Given the description of an element on the screen output the (x, y) to click on. 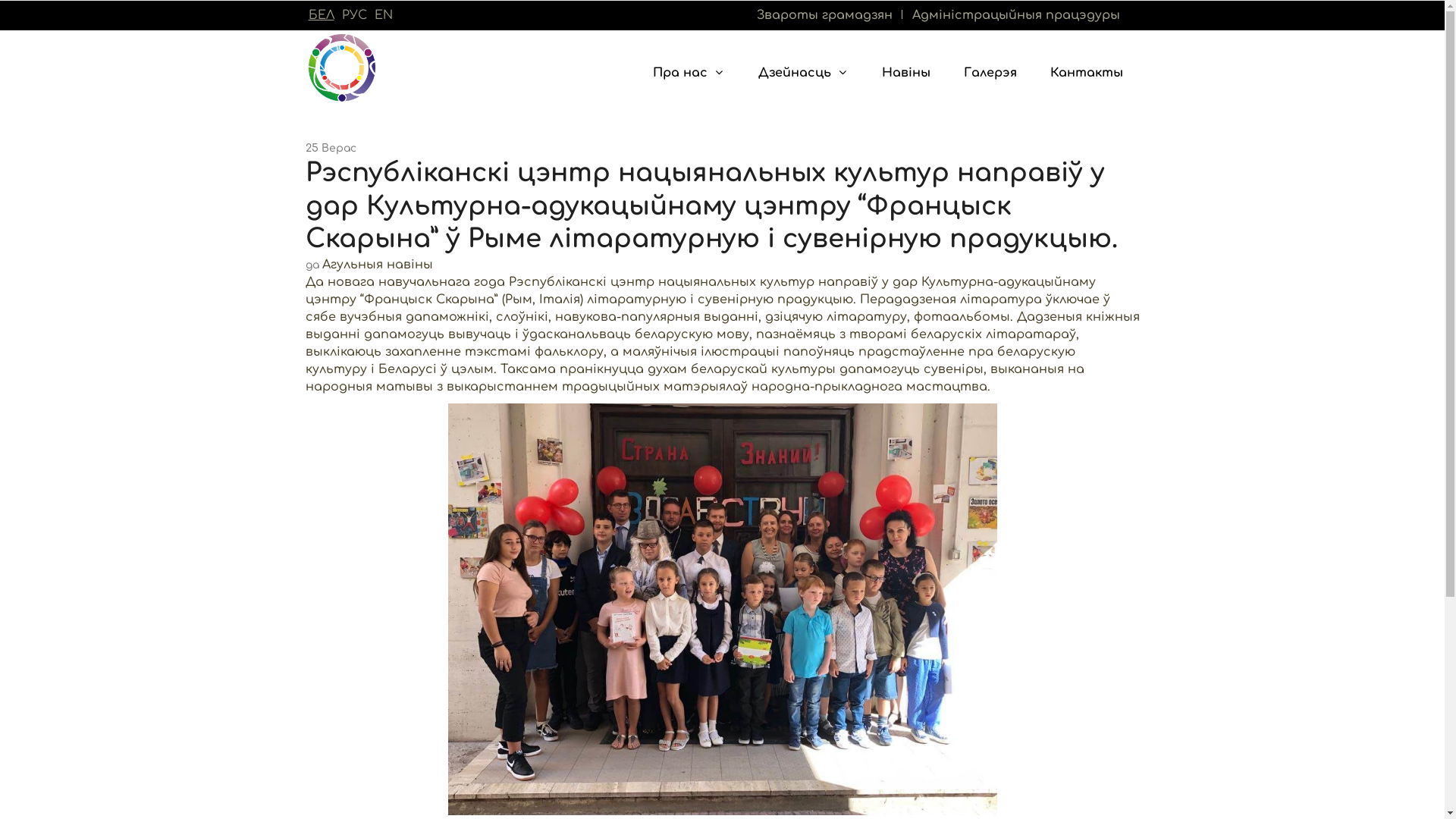
EN Element type: text (383, 14)
